Given the description of an element on the screen output the (x, y) to click on. 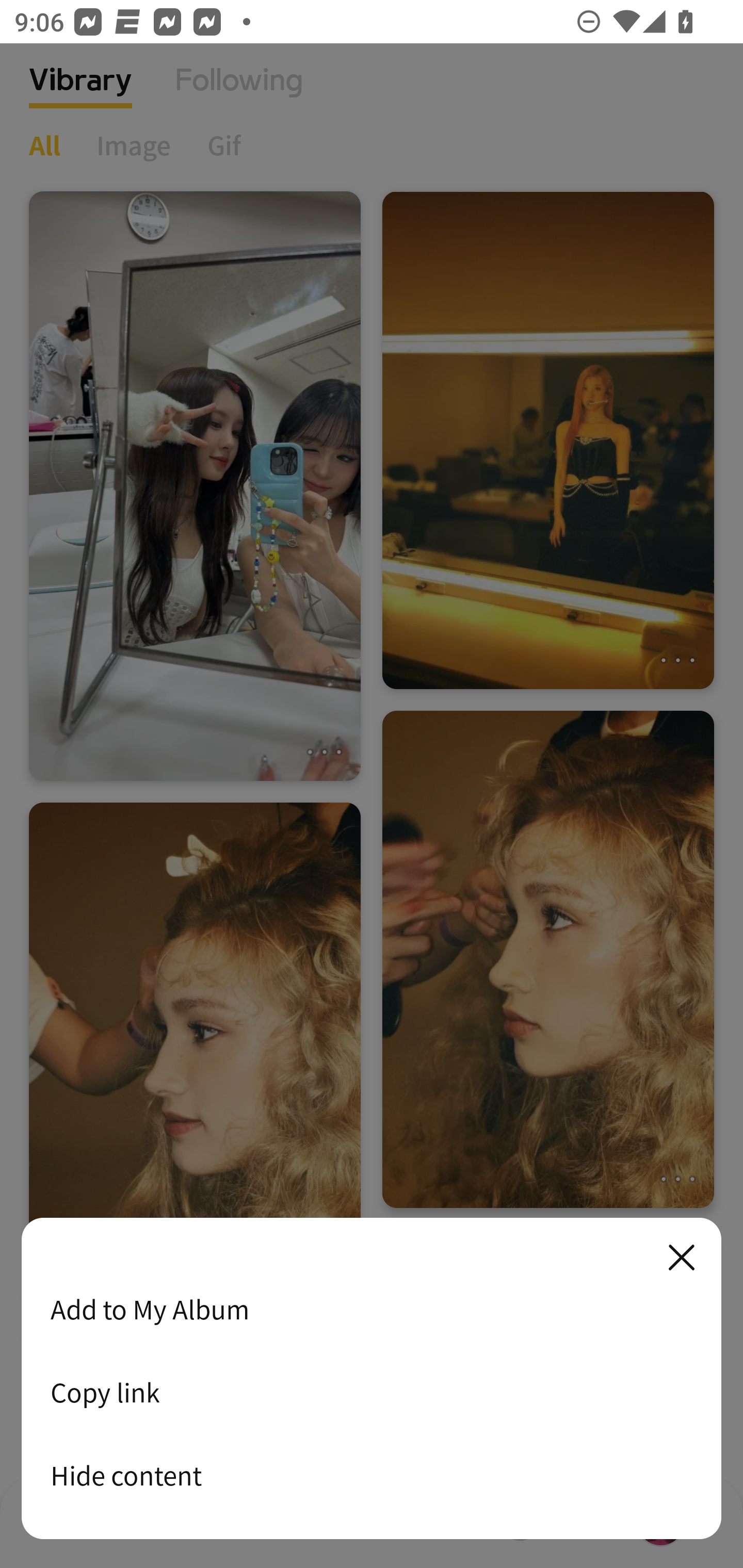
Add to My Album Copy link Hide content (371, 1378)
Add to My Album (371, 1308)
Copy link (371, 1391)
Hide content (371, 1474)
